Given the description of an element on the screen output the (x, y) to click on. 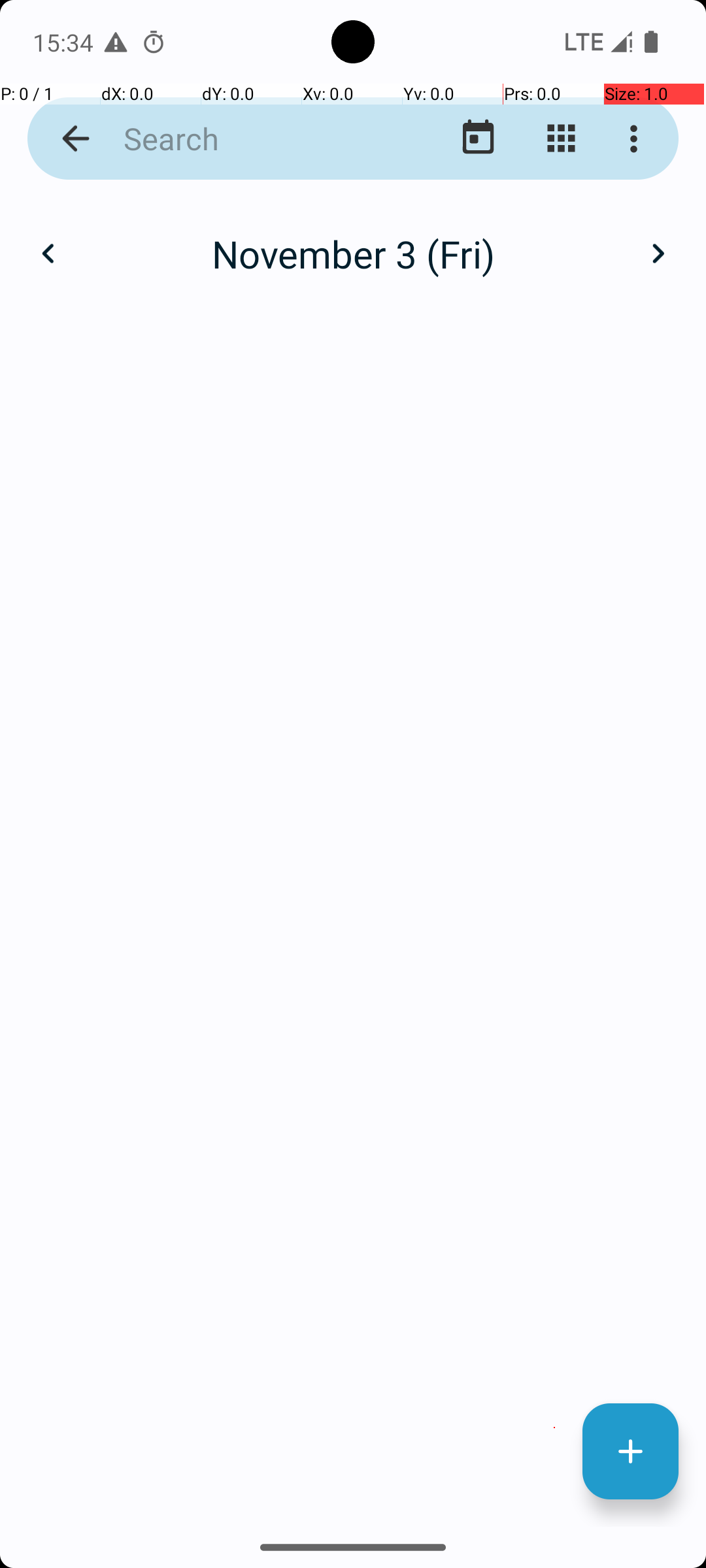
November 3 (Fri) Element type: android.widget.TextView (352, 253)
